Given the description of an element on the screen output the (x, y) to click on. 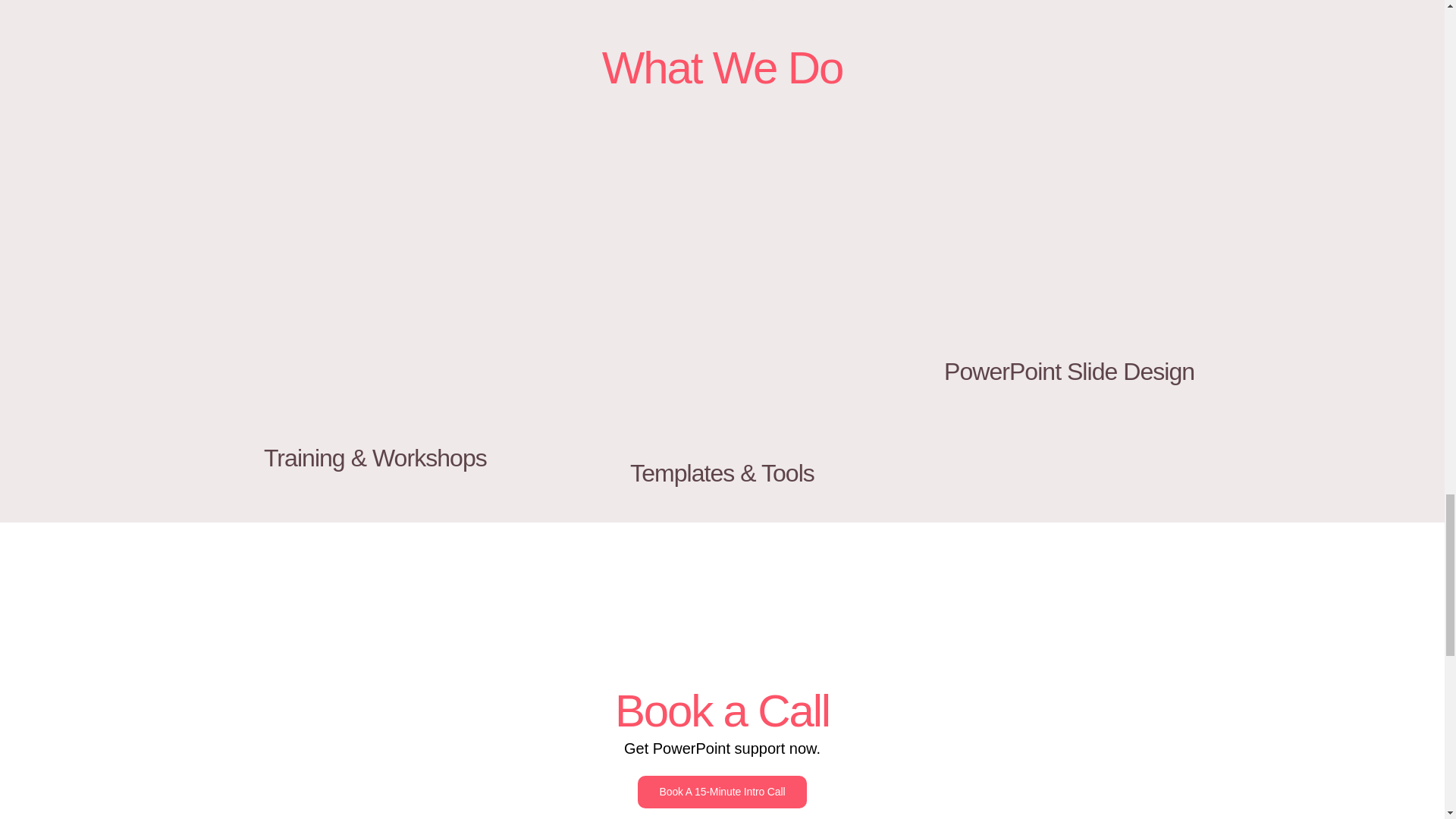
Book A 15-Minute Intro Call (722, 791)
TemplateWorkshopStill2 (374, 346)
